Given the description of an element on the screen output the (x, y) to click on. 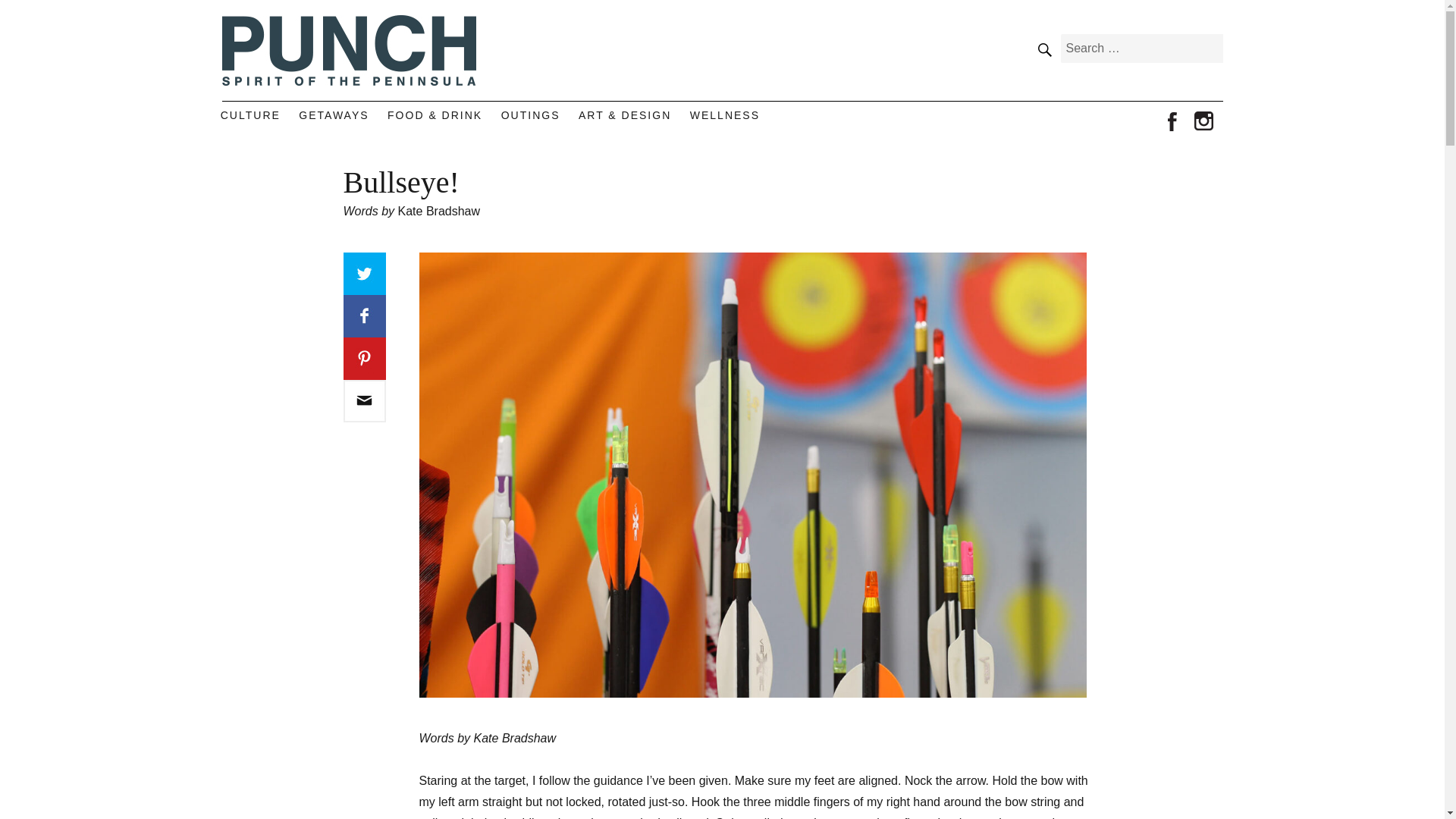
WELLNESS (725, 115)
GETAWAYS (333, 115)
SEARCH (1043, 48)
Bullseye! (363, 401)
facebook (1171, 121)
OUTINGS (530, 115)
CULTURE (250, 115)
instagram (1204, 121)
